Given the description of an element on the screen output the (x, y) to click on. 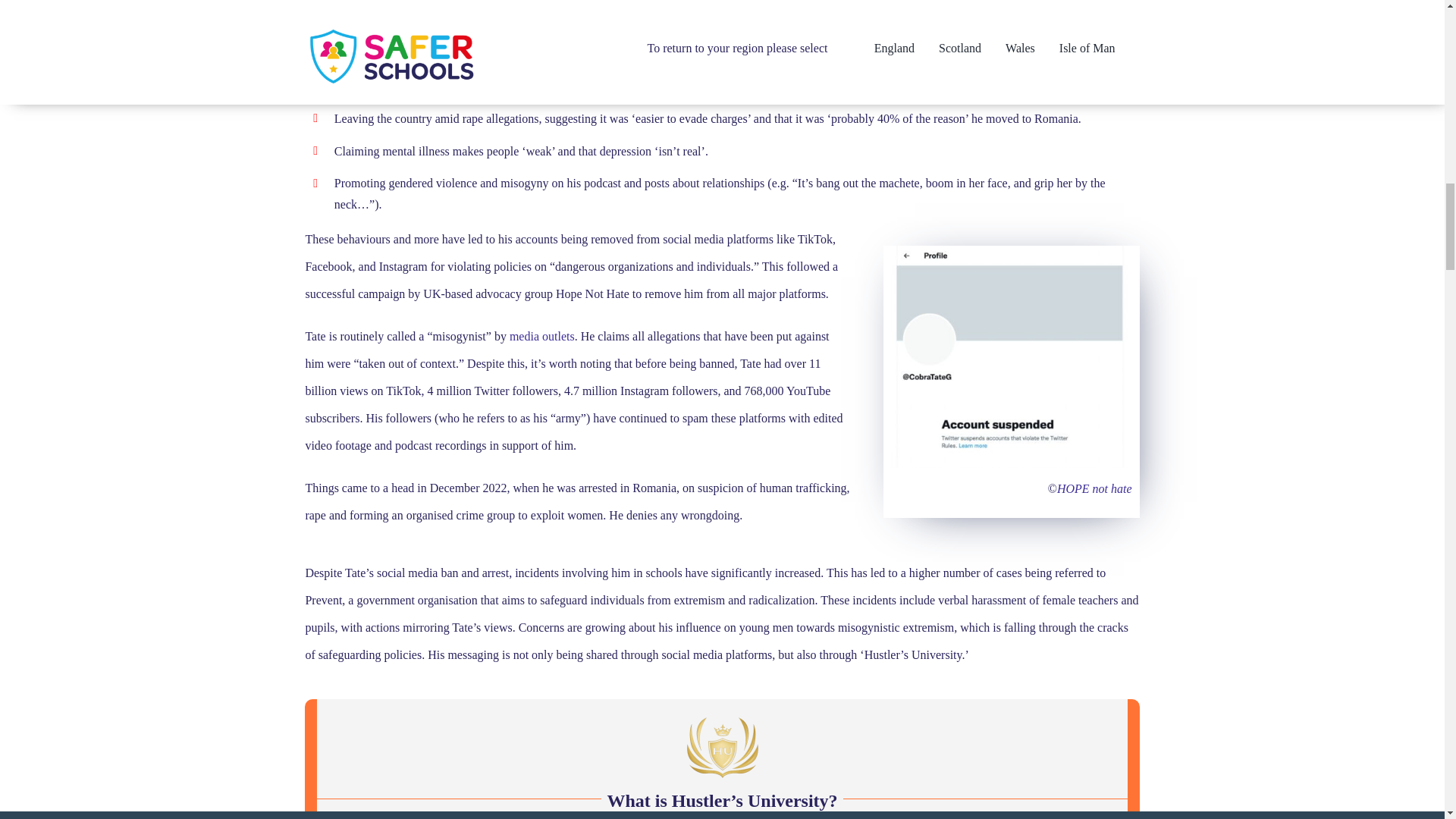
account suspended (1011, 356)
HOPE not hate (1094, 488)
media outlets (542, 336)
hu-logo (722, 749)
